Given the description of an element on the screen output the (x, y) to click on. 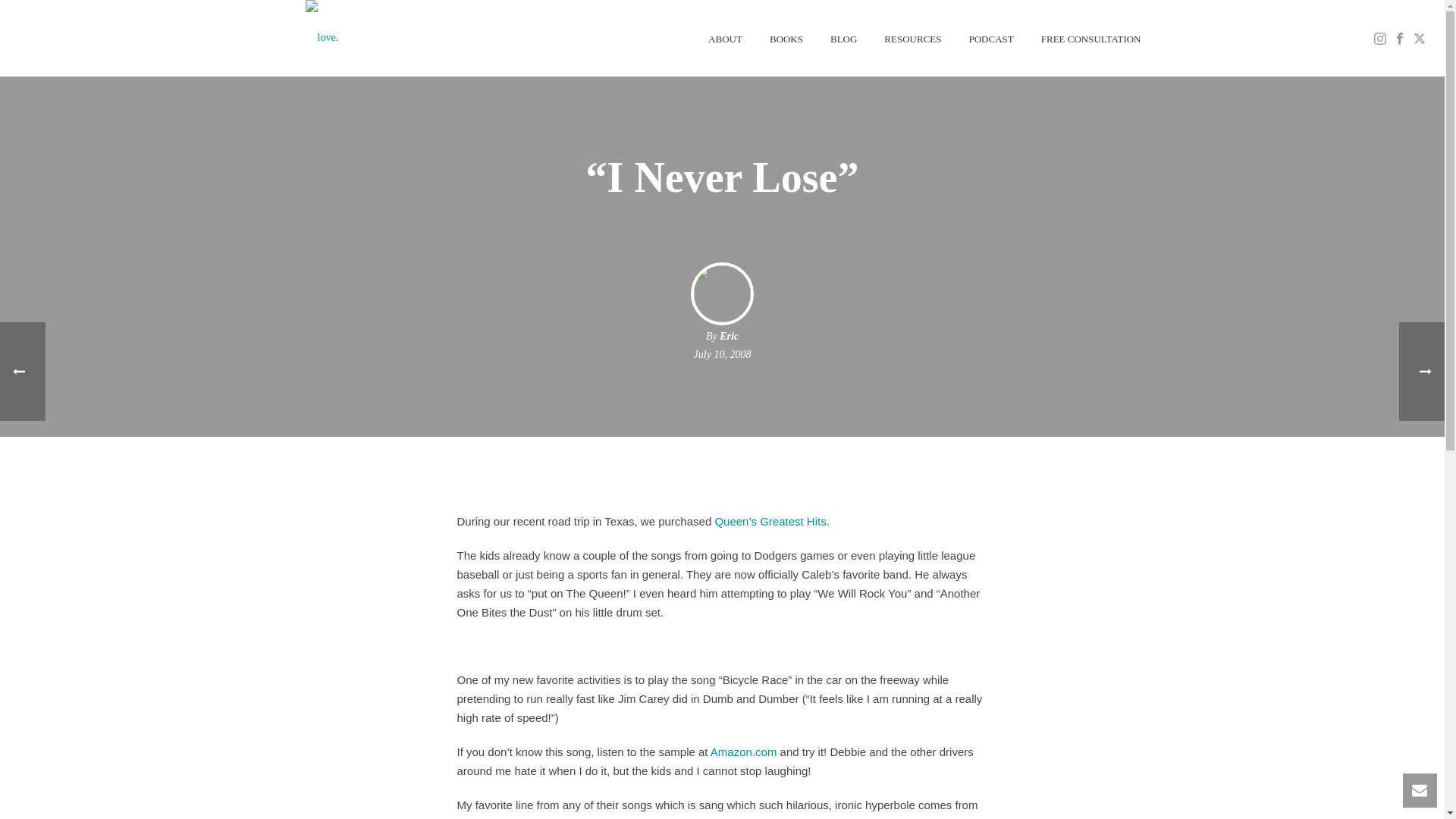
PODCAST (991, 38)
July 10, 2008 (722, 354)
FREE CONSULTATION (1090, 38)
FREE CONSULTATION (1090, 38)
Amazon.com (743, 751)
PODCAST (991, 38)
RESOURCES (912, 38)
Eric (728, 336)
RESOURCES (912, 38)
